Given the description of an element on the screen output the (x, y) to click on. 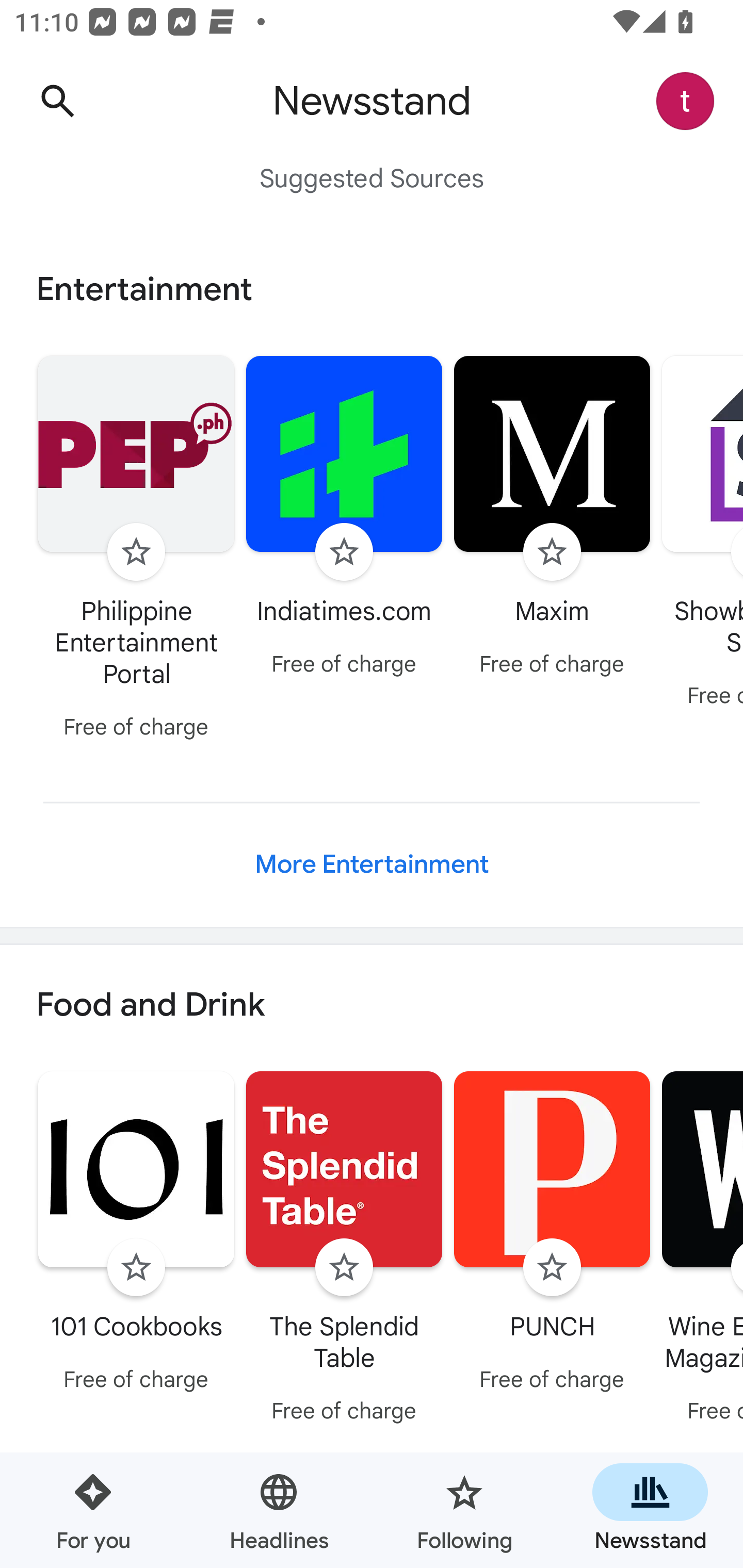
Search (57, 100)
Entertainment (371, 288)
Follow Indiatimes.com Free of charge (344, 517)
Follow Maxim Free of charge (552, 517)
Follow (135, 551)
Follow (343, 551)
Follow (552, 551)
More Entertainment (371, 864)
Food and Drink (371, 1005)
Follow 101 Cookbooks Free of charge (136, 1234)
Follow The Splendid Table Free of charge (344, 1250)
Follow PUNCH Free of charge (552, 1234)
Follow (135, 1267)
Follow (343, 1267)
Follow (552, 1267)
For you (92, 1509)
Headlines (278, 1509)
Following (464, 1509)
Newsstand (650, 1509)
